Given the description of an element on the screen output the (x, y) to click on. 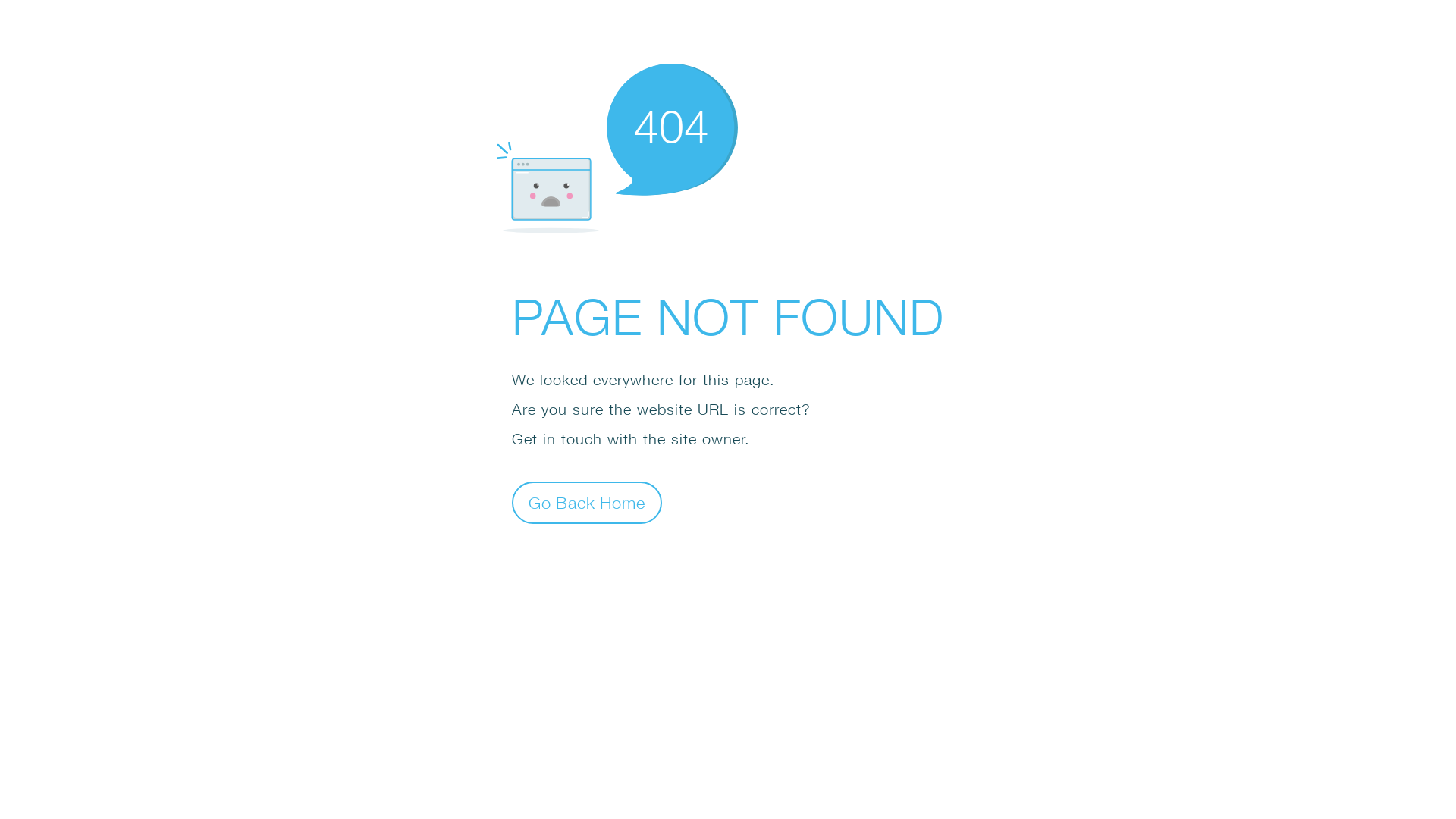
Go Back Home Element type: text (586, 502)
